Given the description of an element on the screen output the (x, y) to click on. 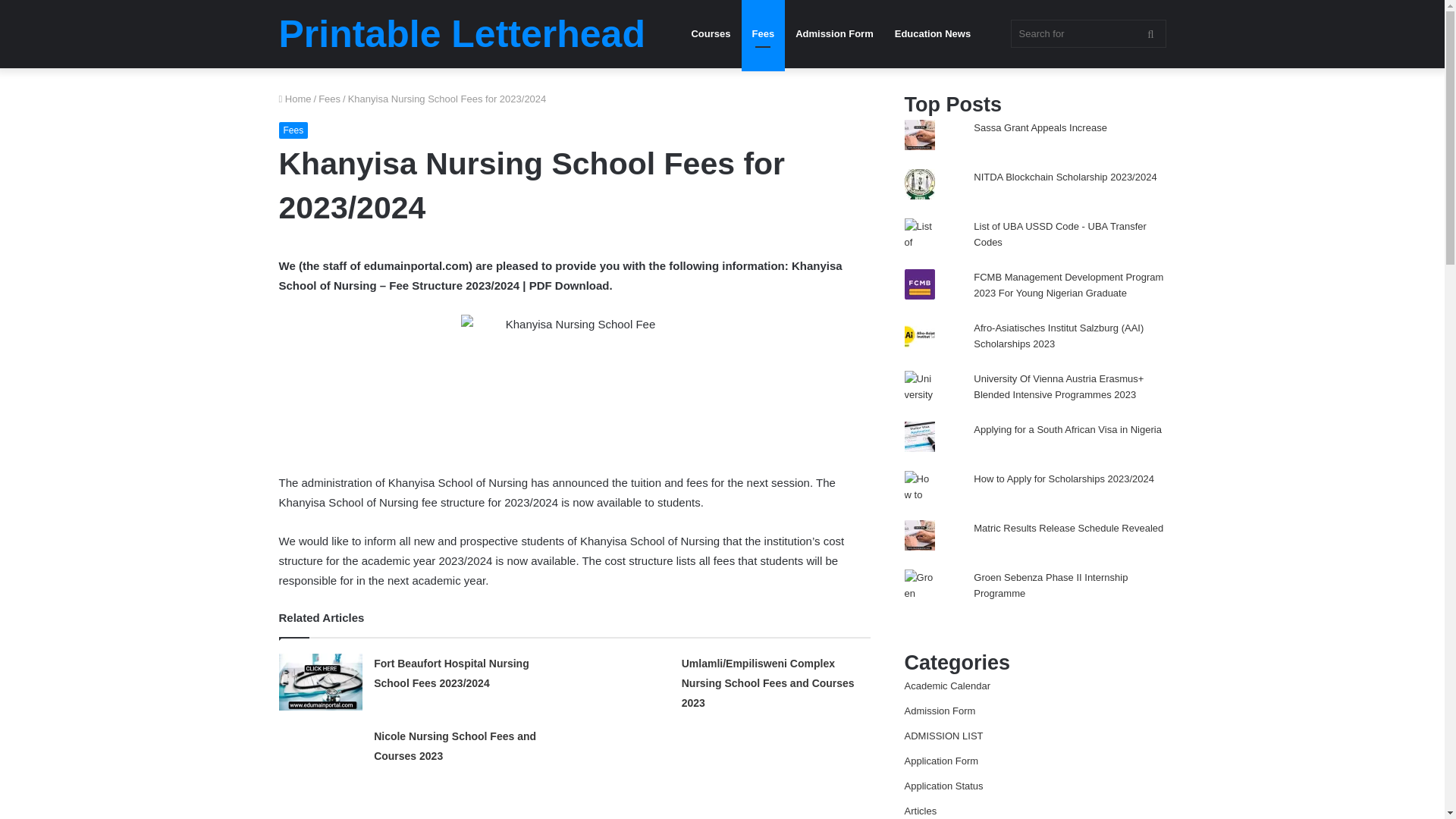
Printable Letterhead (462, 34)
Home (295, 98)
Printable Letterhead (462, 34)
Courses (710, 33)
Nicole Nursing School Fees and Courses 2023 (454, 746)
Fees (293, 130)
Education News (932, 33)
Fees (329, 98)
Search for (1088, 33)
Admission Form (833, 33)
